Given the description of an element on the screen output the (x, y) to click on. 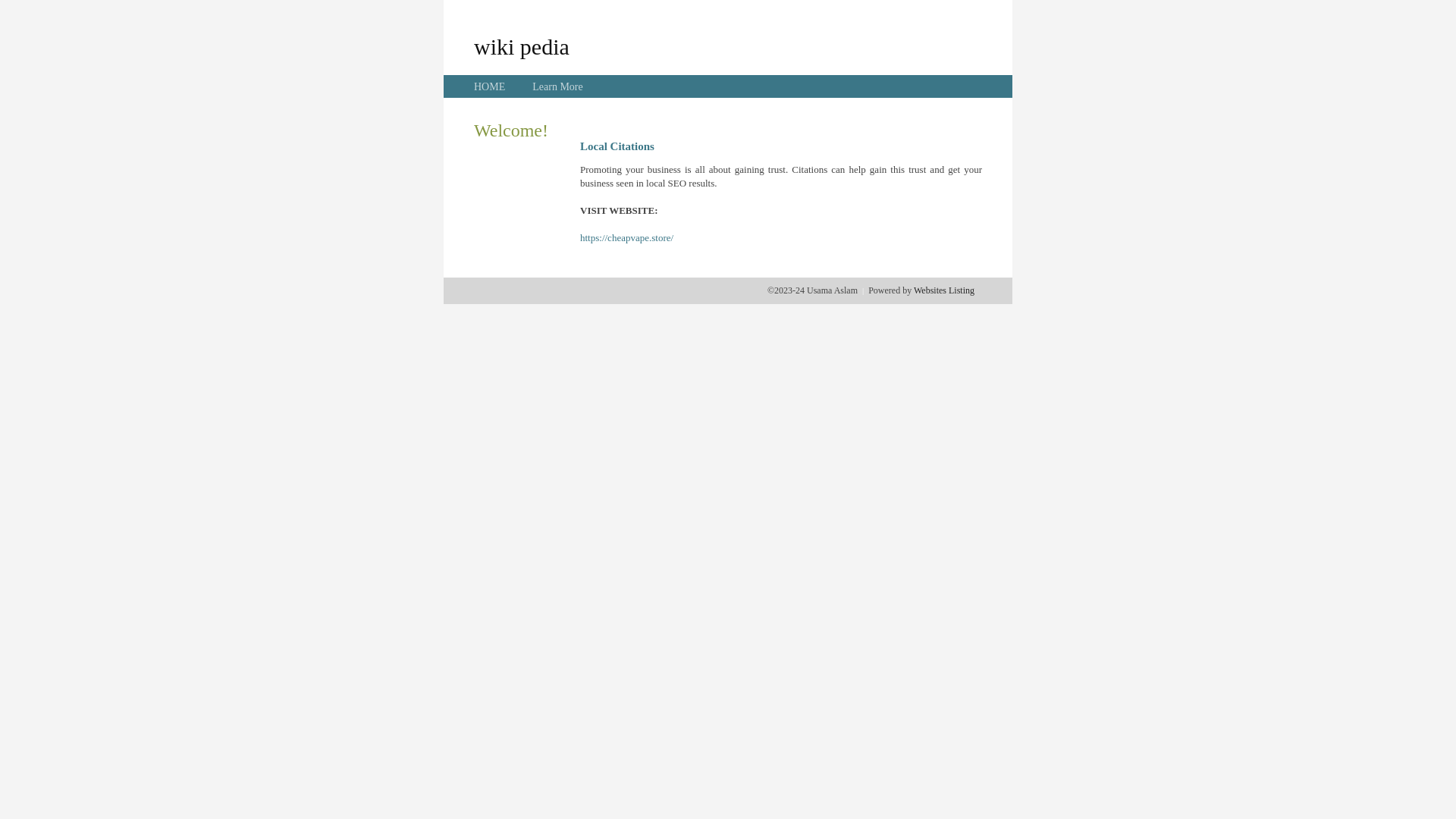
Learn More Element type: text (557, 86)
HOME Element type: text (489, 86)
Websites Listing Element type: text (943, 290)
https://cheapvape.store/ Element type: text (626, 237)
wiki pedia Element type: text (521, 46)
